Given the description of an element on the screen output the (x, y) to click on. 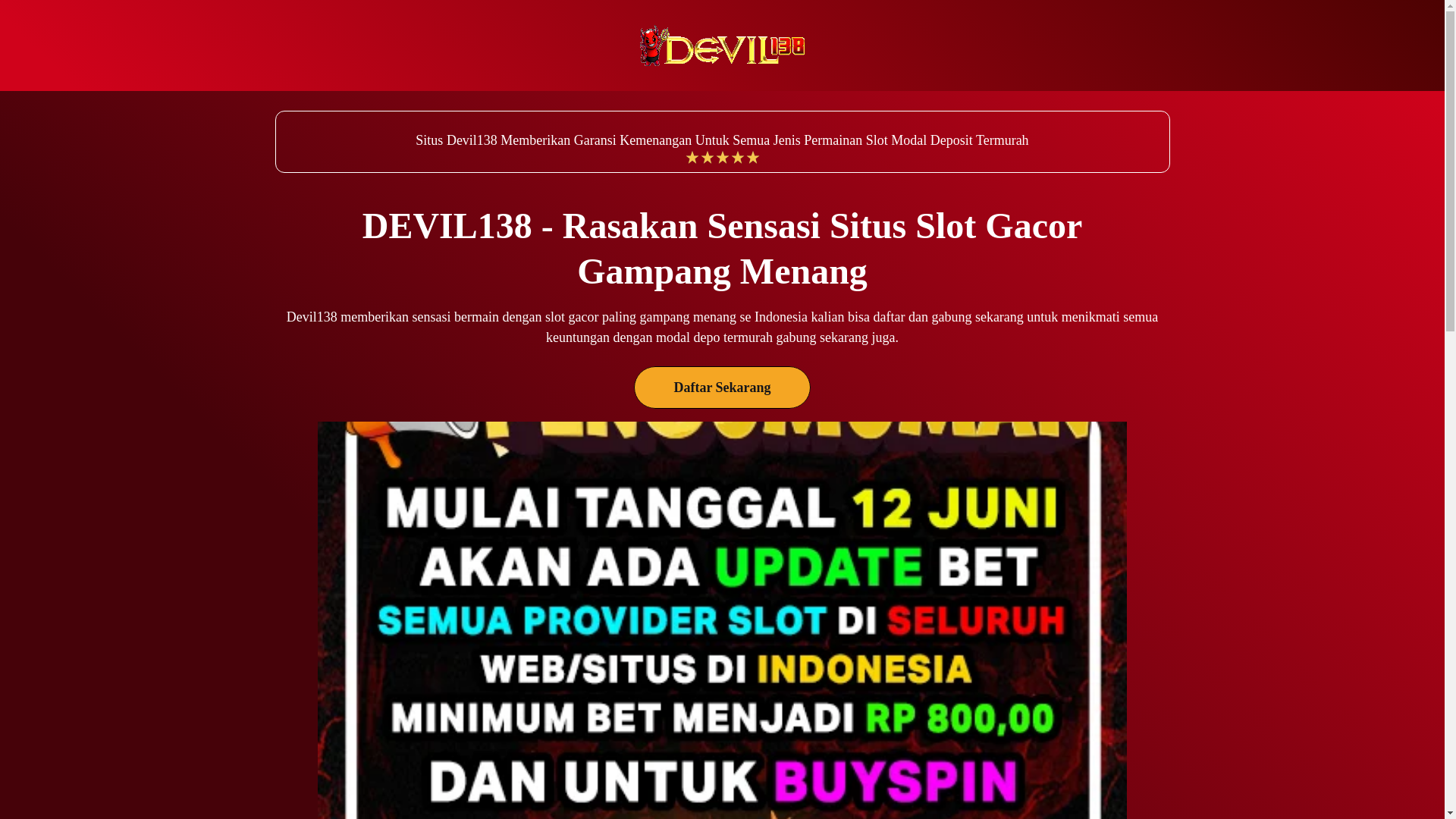
Daftar Sekarang (721, 386)
